Given the description of an element on the screen output the (x, y) to click on. 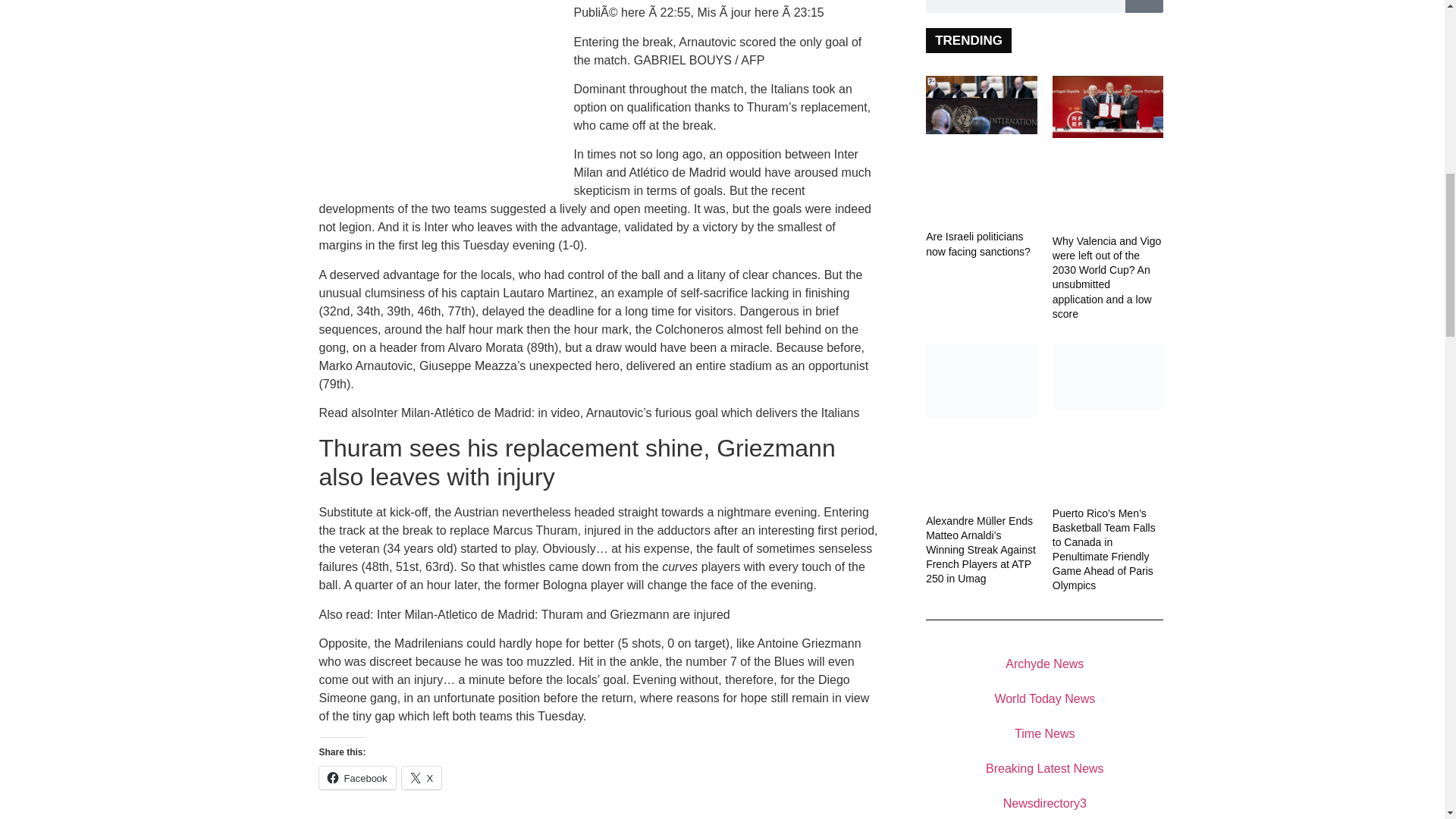
Click to share on Facebook (356, 777)
Click to share on X (421, 777)
